Given the description of an element on the screen output the (x, y) to click on. 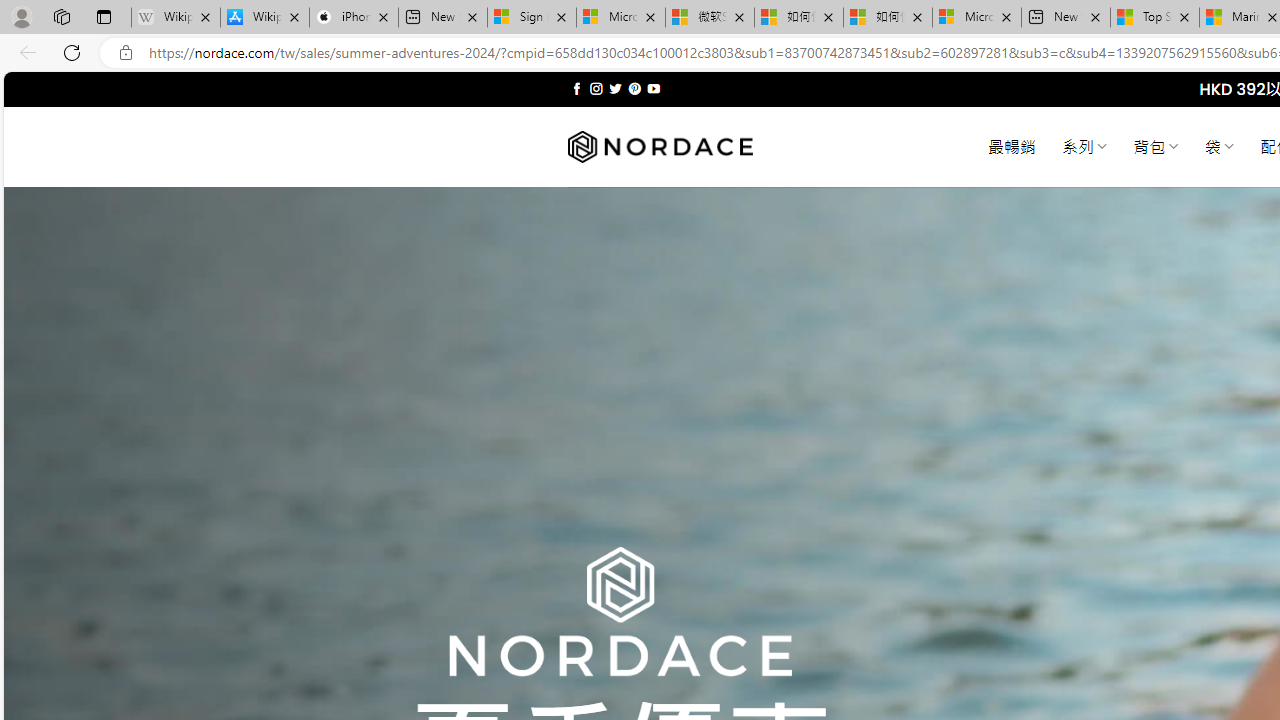
Follow on Pinterest (634, 88)
Nordace (659, 147)
Follow on Facebook (576, 88)
Sign in to your Microsoft account (531, 17)
Top Stories - MSN (1155, 17)
Wikipedia - Sleeping (175, 17)
Nordace (659, 147)
